Given the description of an element on the screen output the (x, y) to click on. 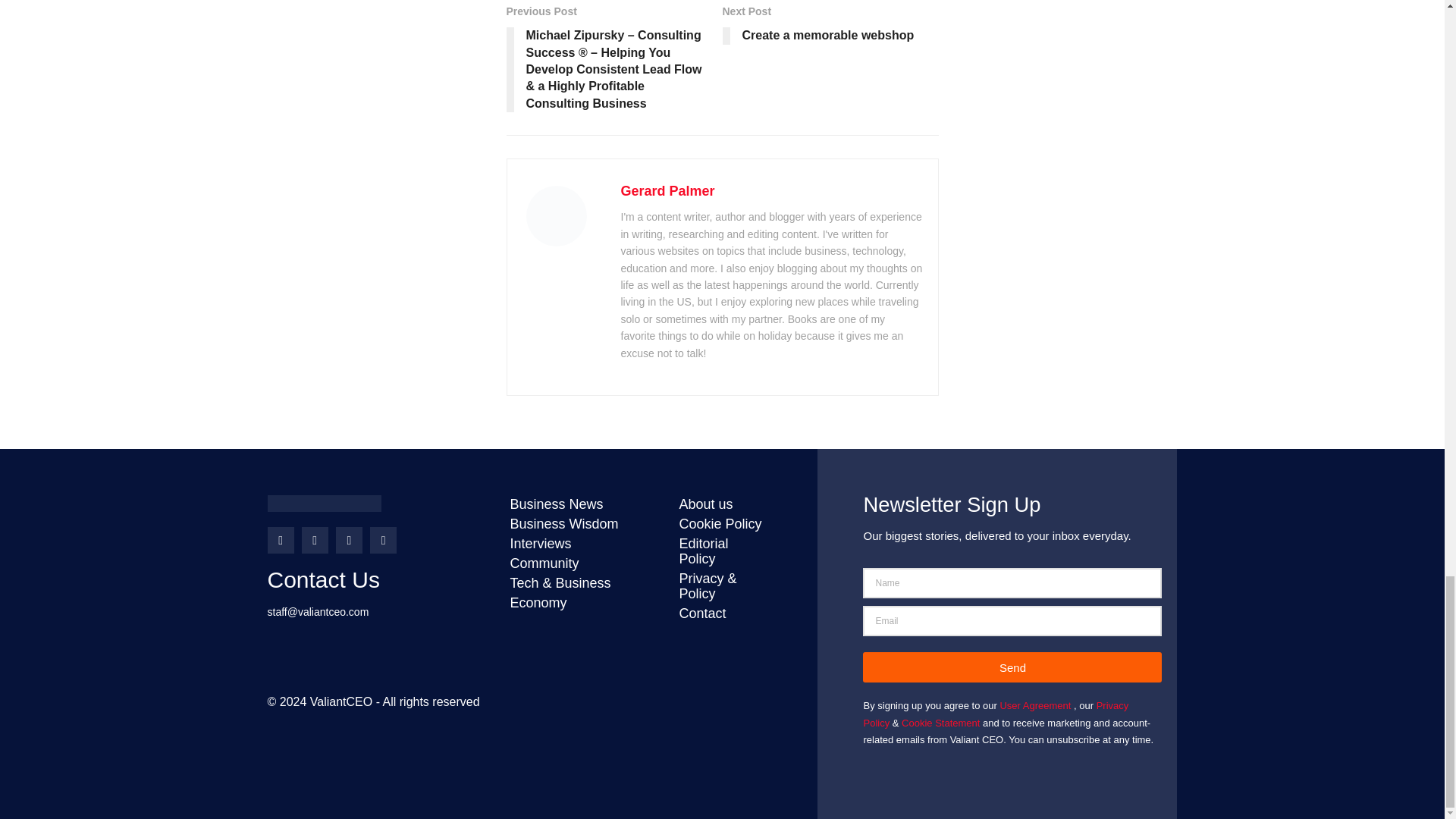
Gerard Palmer (829, 27)
